Given the description of an element on the screen output the (x, y) to click on. 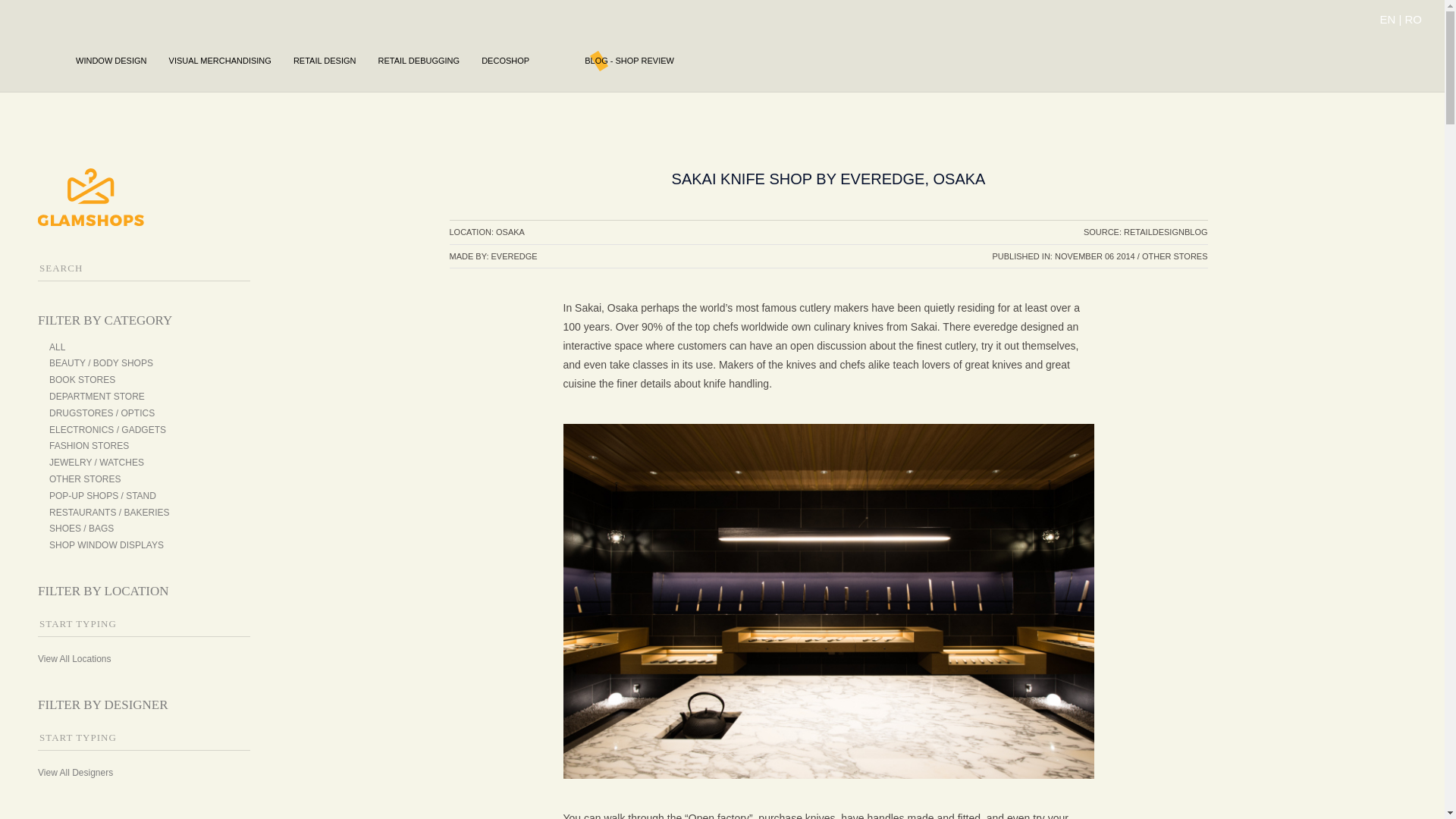
OTHER STORES (84, 479)
BOOK STORES (82, 379)
EN (1386, 19)
SHOP WINDOW DISPLAYS (106, 544)
RETAIL DESIGN (325, 61)
WINDOW DESIGN (111, 61)
VISUAL MERCHANDISING (219, 61)
RETAIL DEBUGGING (419, 61)
RO (1413, 19)
FASHION STORES (89, 445)
ALL (57, 347)
DEPARTMENT STORE (96, 396)
DECOSHOP (505, 61)
BLOG - SHOP REVIEW (629, 61)
